Given the description of an element on the screen output the (x, y) to click on. 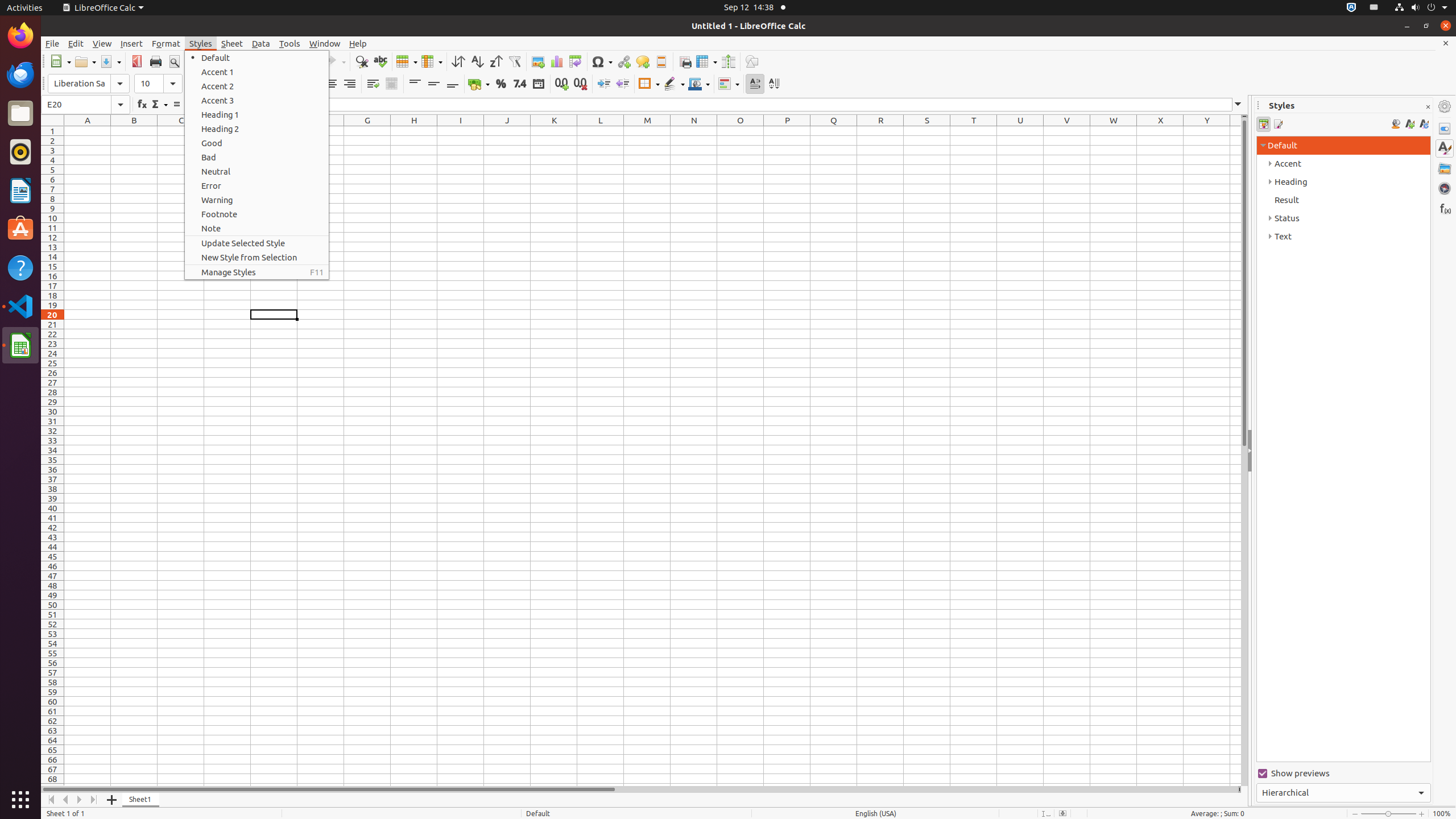
Comment Element type: push-button (642, 61)
Help Element type: menu (357, 43)
M1 Element type: table-cell (646, 130)
W1 Element type: table-cell (1113, 130)
Font Name Element type: combo-box (88, 83)
